Given the description of an element on the screen output the (x, y) to click on. 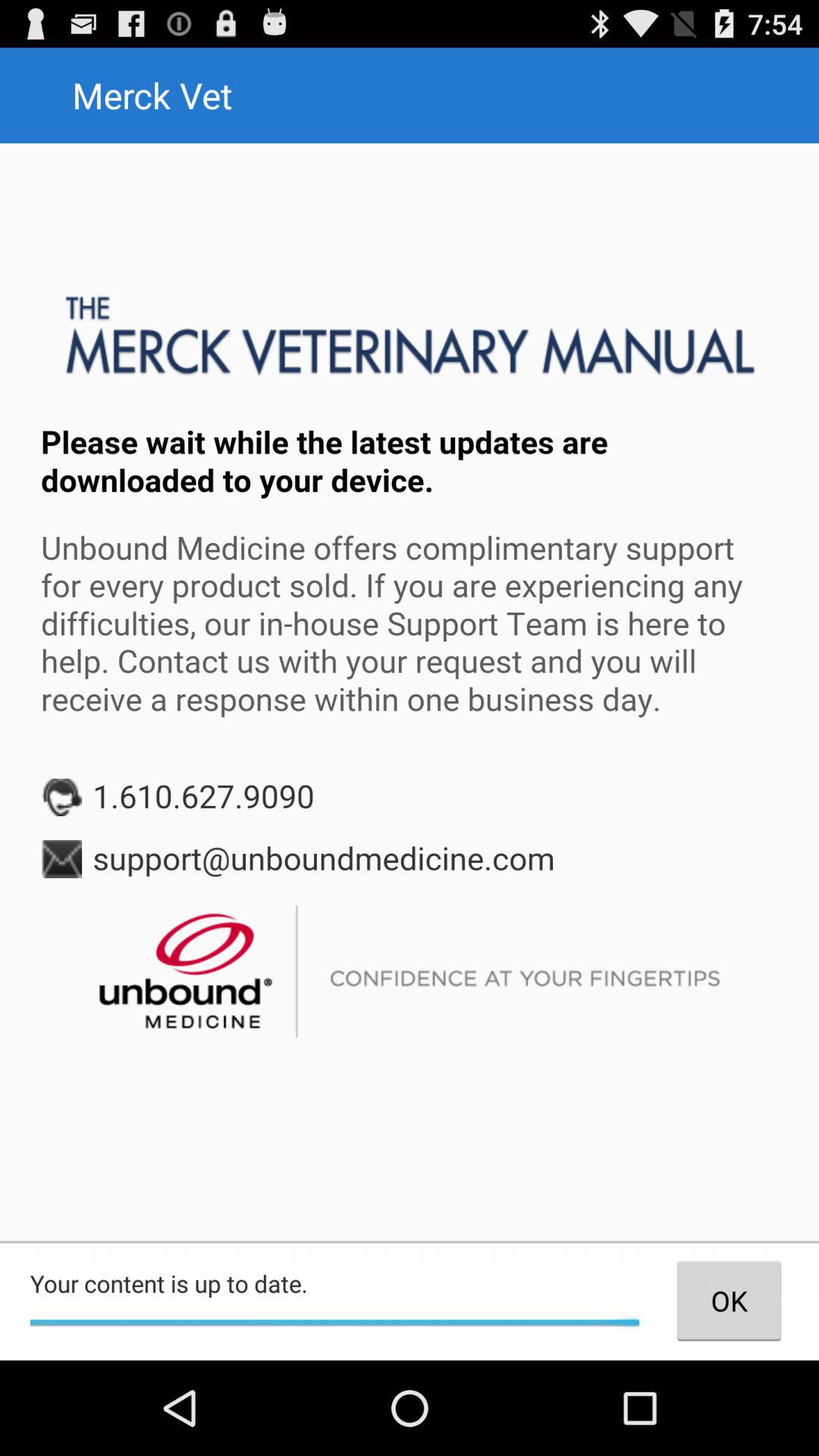
content of merck veterinary manual update (409, 692)
